Given the description of an element on the screen output the (x, y) to click on. 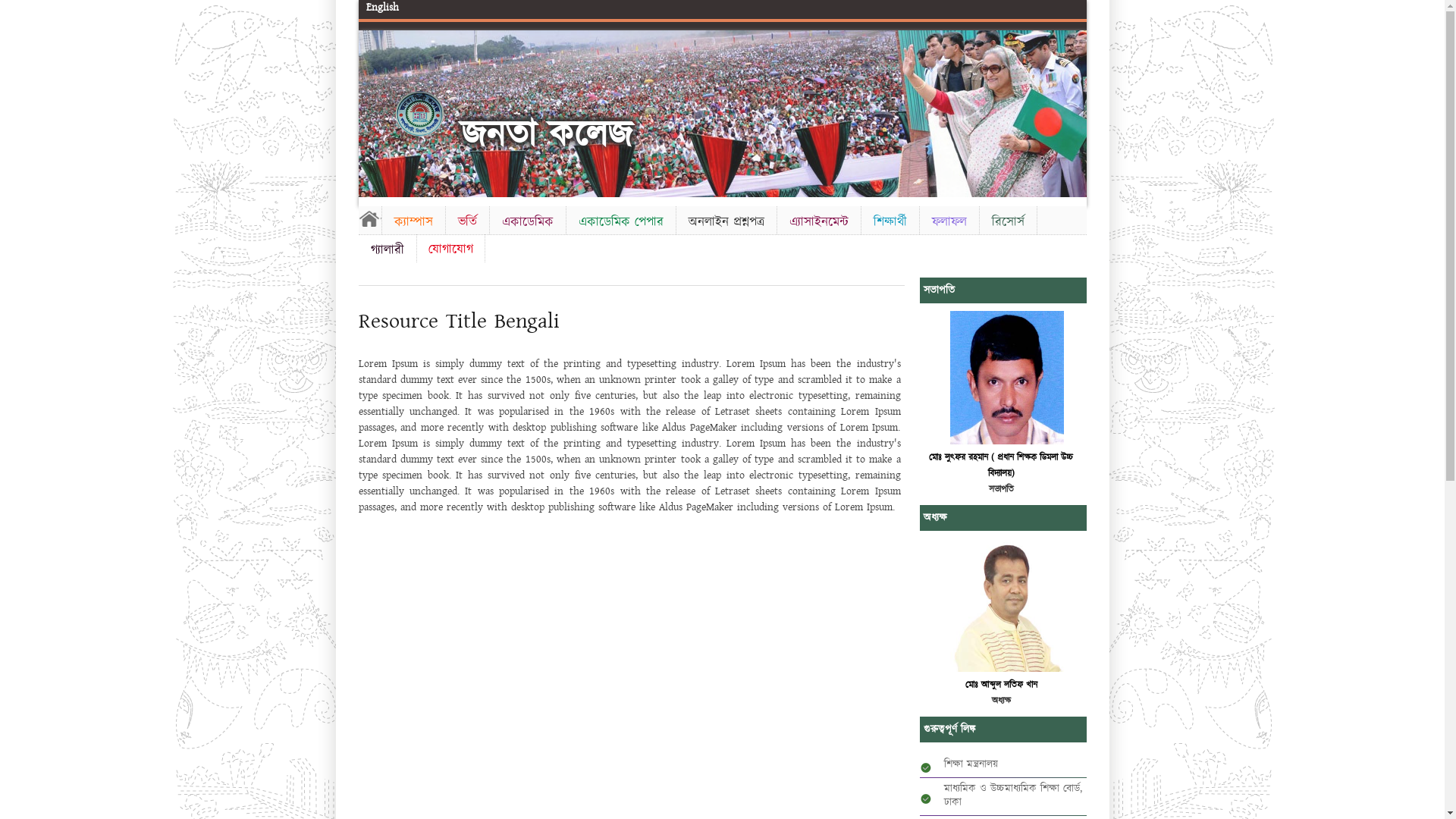
Previous Element type: text (371, 110)
English Element type: text (382, 7)
Next Element type: text (1071, 110)
